Given the description of an element on the screen output the (x, y) to click on. 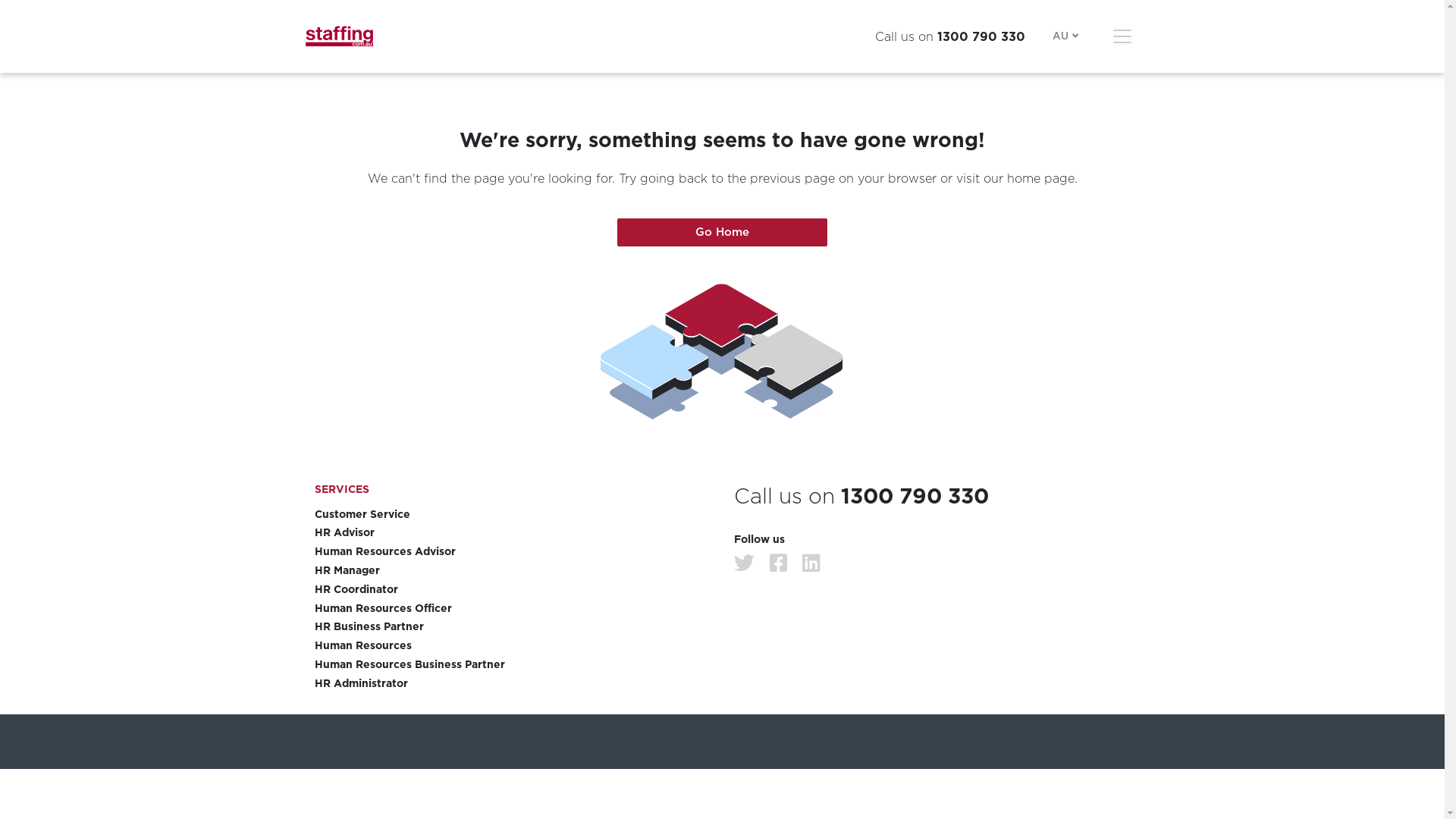
Human Resources Advisor Element type: text (511, 551)
AU   Element type: text (1066, 35)
Customer Service Element type: text (511, 514)
HR Business Partner Element type: text (511, 626)
HR Administrator Element type: text (511, 683)
Human Resources Element type: text (511, 645)
HR Coordinator Element type: text (511, 589)
Human Resources Officer Element type: text (511, 608)
HR Manager Element type: text (511, 570)
Human Resources Business Partner Element type: text (511, 664)
Go Home Element type: text (722, 232)
HR Advisor Element type: text (511, 532)
